Given the description of an element on the screen output the (x, y) to click on. 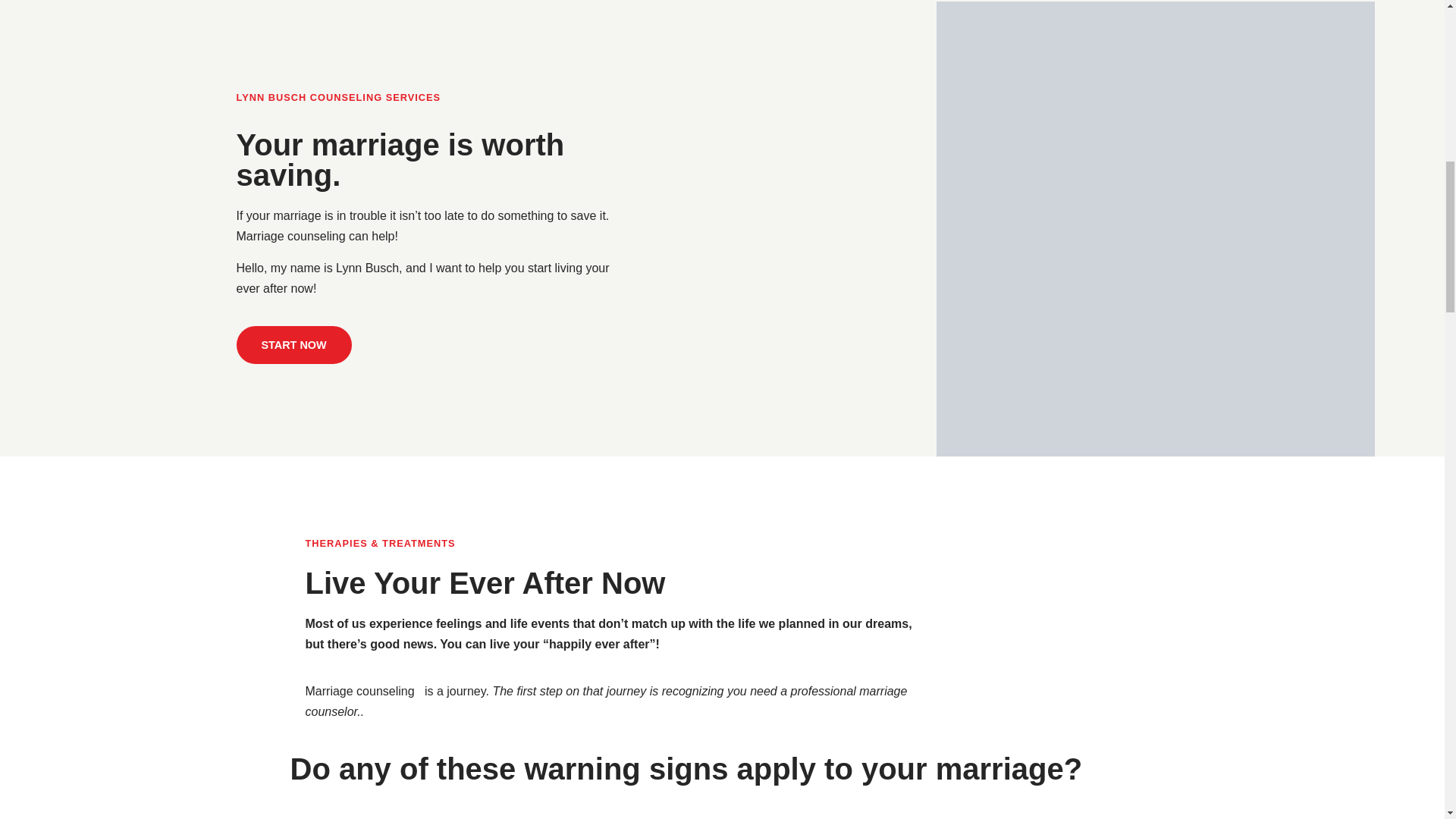
START NOW (293, 344)
